Given the description of an element on the screen output the (x, y) to click on. 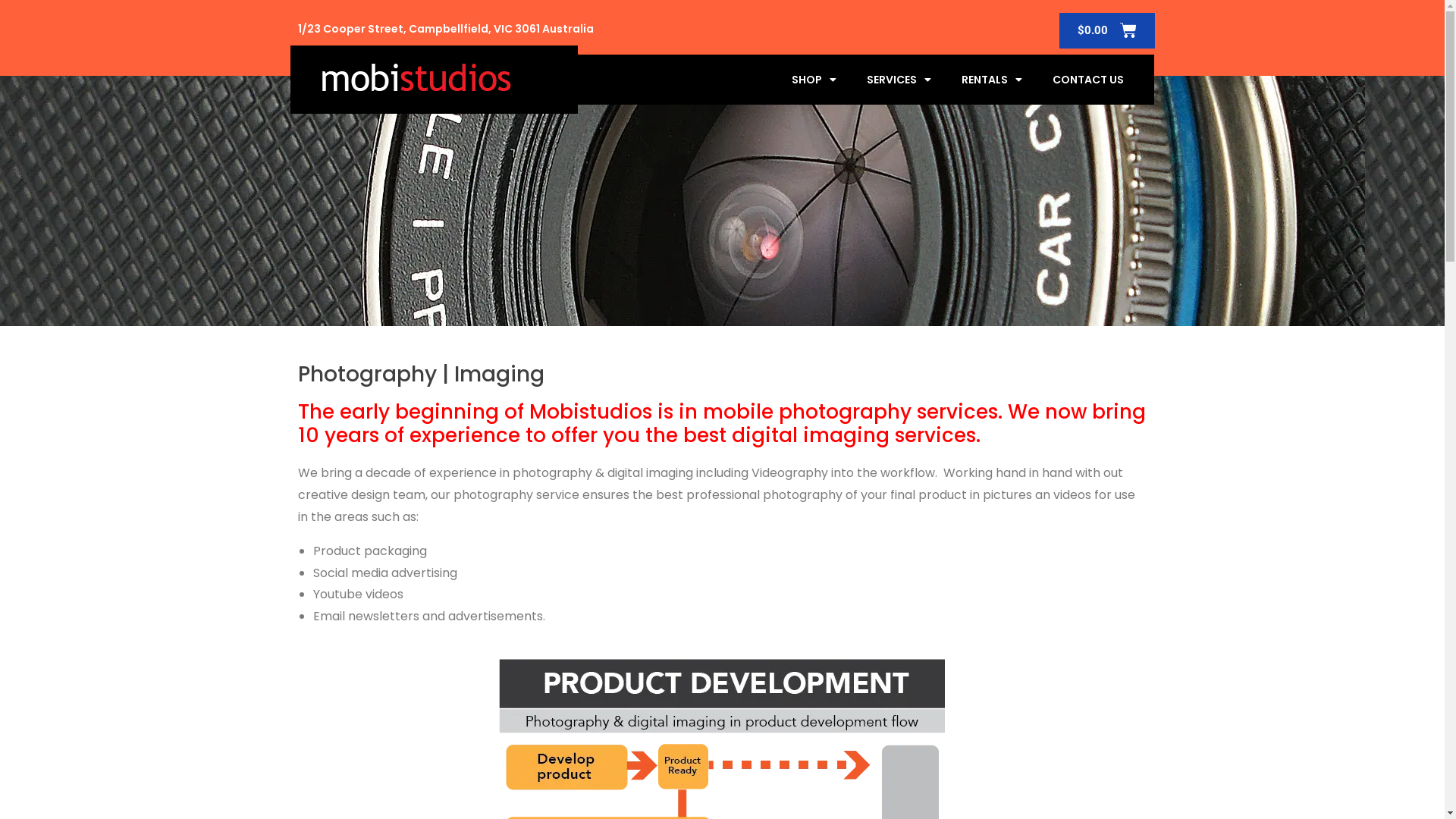
RENTALS Element type: text (991, 79)
SHOP Element type: text (813, 79)
Search Element type: text (950, 428)
$0.00 Element type: text (1106, 29)
SERVICES Element type: text (898, 79)
CONTACT US Element type: text (1088, 79)
